Given the description of an element on the screen output the (x, y) to click on. 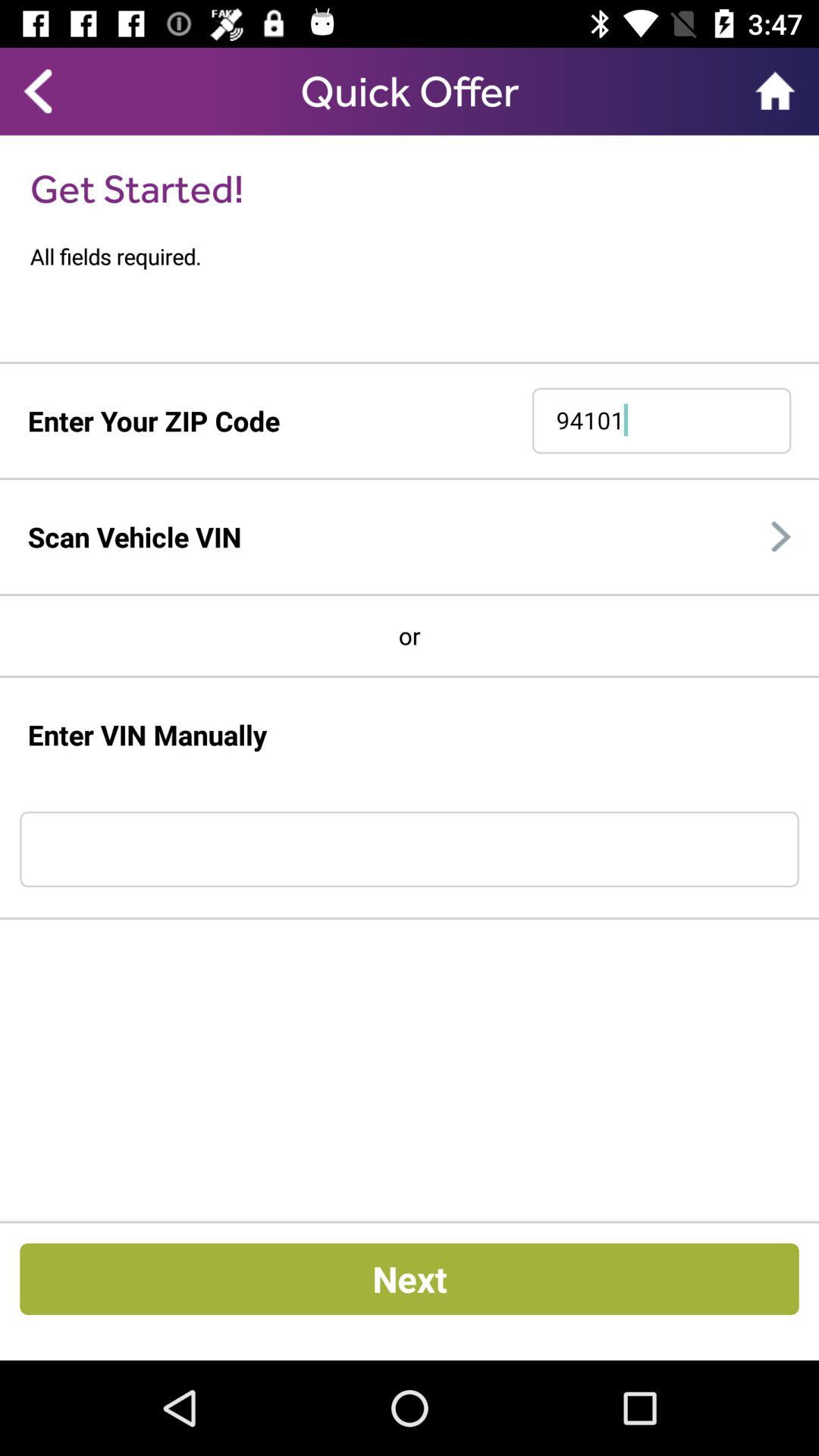
enter vehicle identification number manually (409, 849)
